Given the description of an element on the screen output the (x, y) to click on. 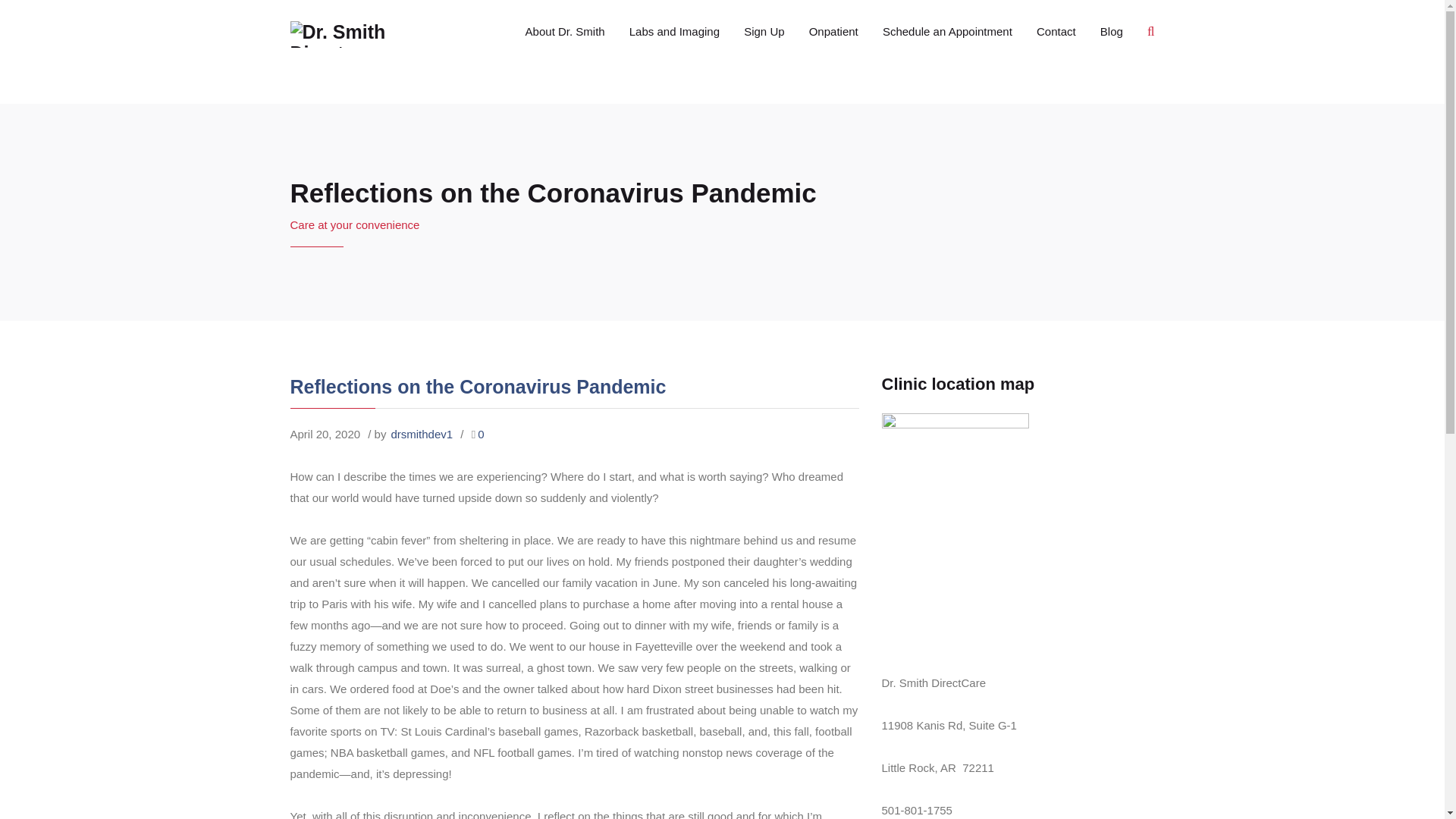
Onpatient (833, 31)
Sign Up (763, 31)
Contact (1056, 31)
About Dr. Smith (565, 31)
Contact (1056, 31)
Schedule an Appointment (947, 31)
Sign Up (763, 31)
Reflections on the Coronavirus Pandemic (477, 386)
Labs and Imaging (674, 31)
Labs and Imaging (674, 31)
